Given the description of an element on the screen output the (x, y) to click on. 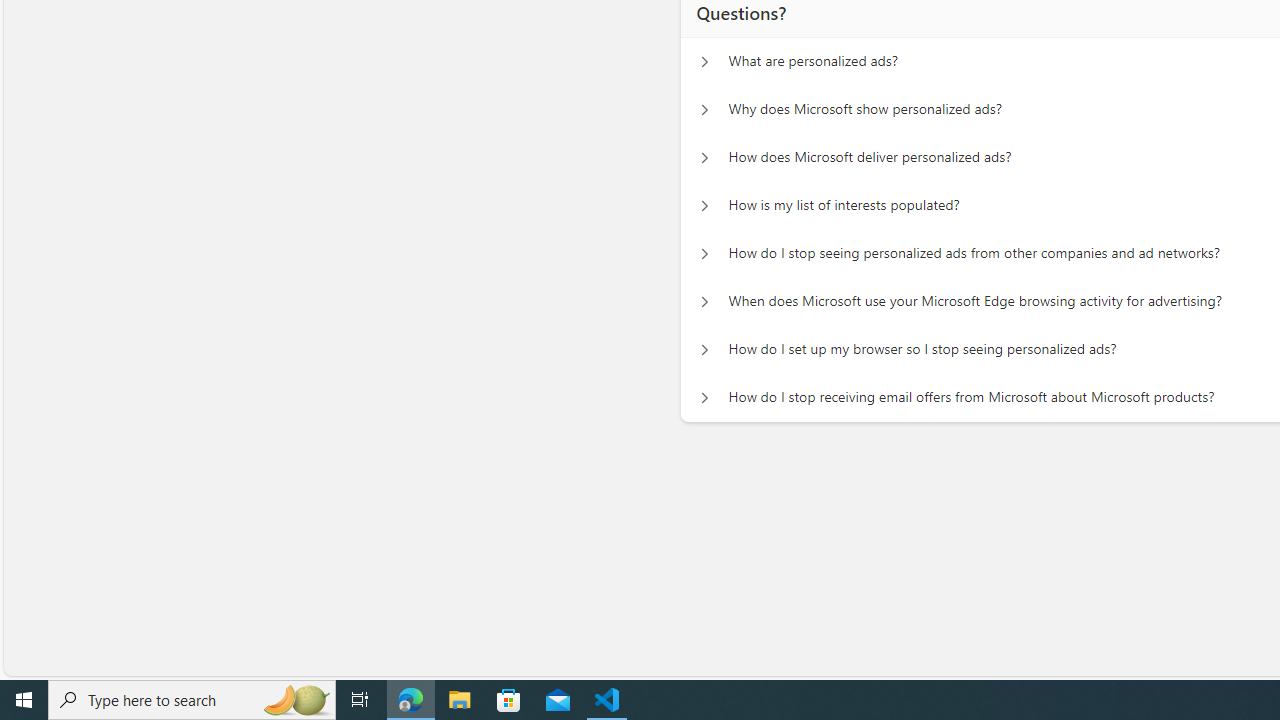
Questions? What are personalized ads? (704, 62)
Questions? Why does Microsoft show personalized ads? (704, 110)
Questions? How does Microsoft deliver personalized ads? (704, 157)
Questions? How is my list of interests populated? (704, 206)
